Given the description of an element on the screen output the (x, y) to click on. 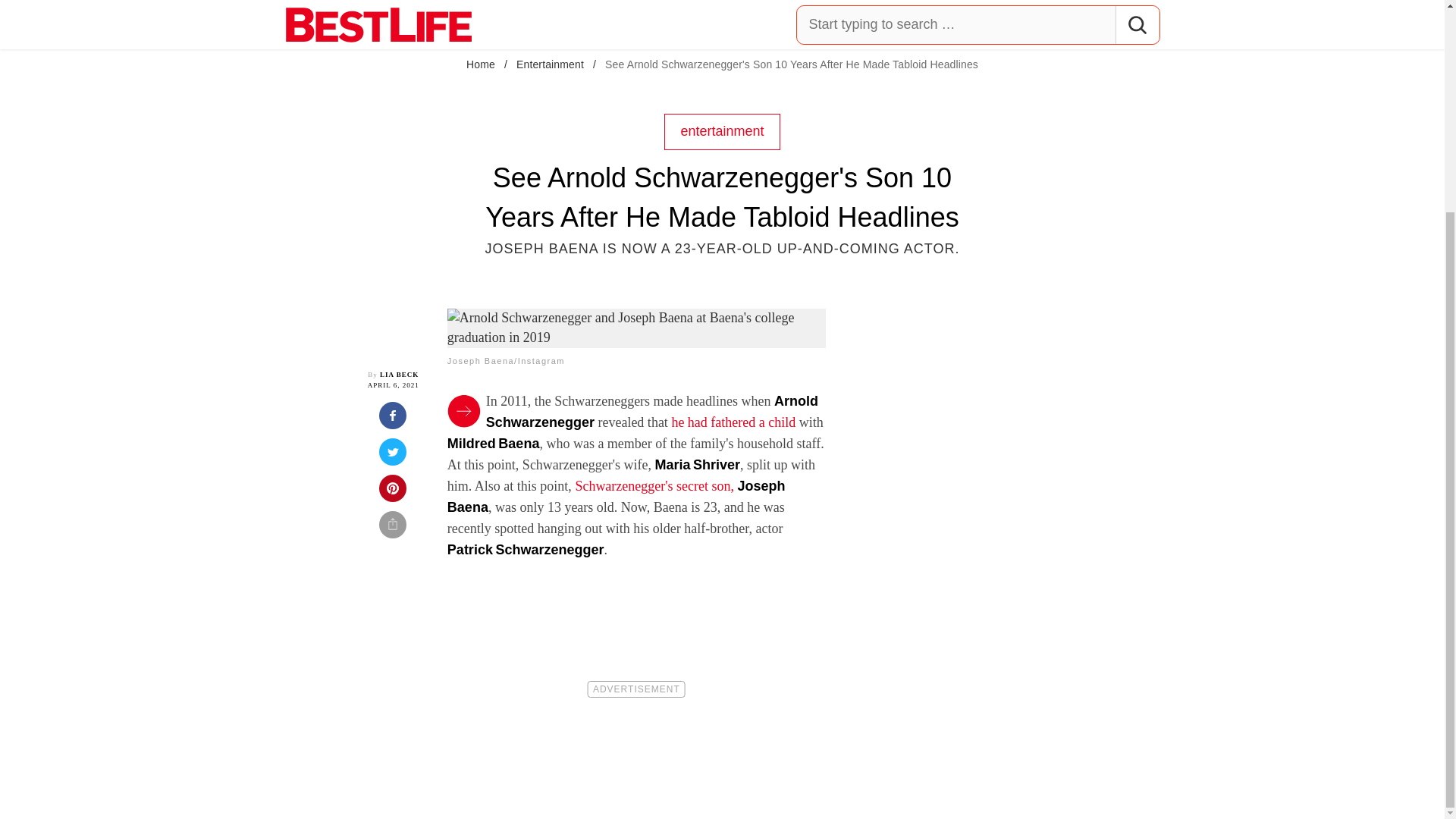
Share on Facebook (392, 420)
LIA BECK (399, 374)
Entertainment (549, 64)
Schwarzenegger's secret son, Joseph Baena (616, 496)
Share on Pinterest (392, 493)
Arnold Schwarzenegger (652, 411)
entertainment (720, 130)
he had fathered a child (732, 421)
Share via email (392, 529)
Home (480, 64)
Share on Twitter (392, 456)
